Given the description of an element on the screen output the (x, y) to click on. 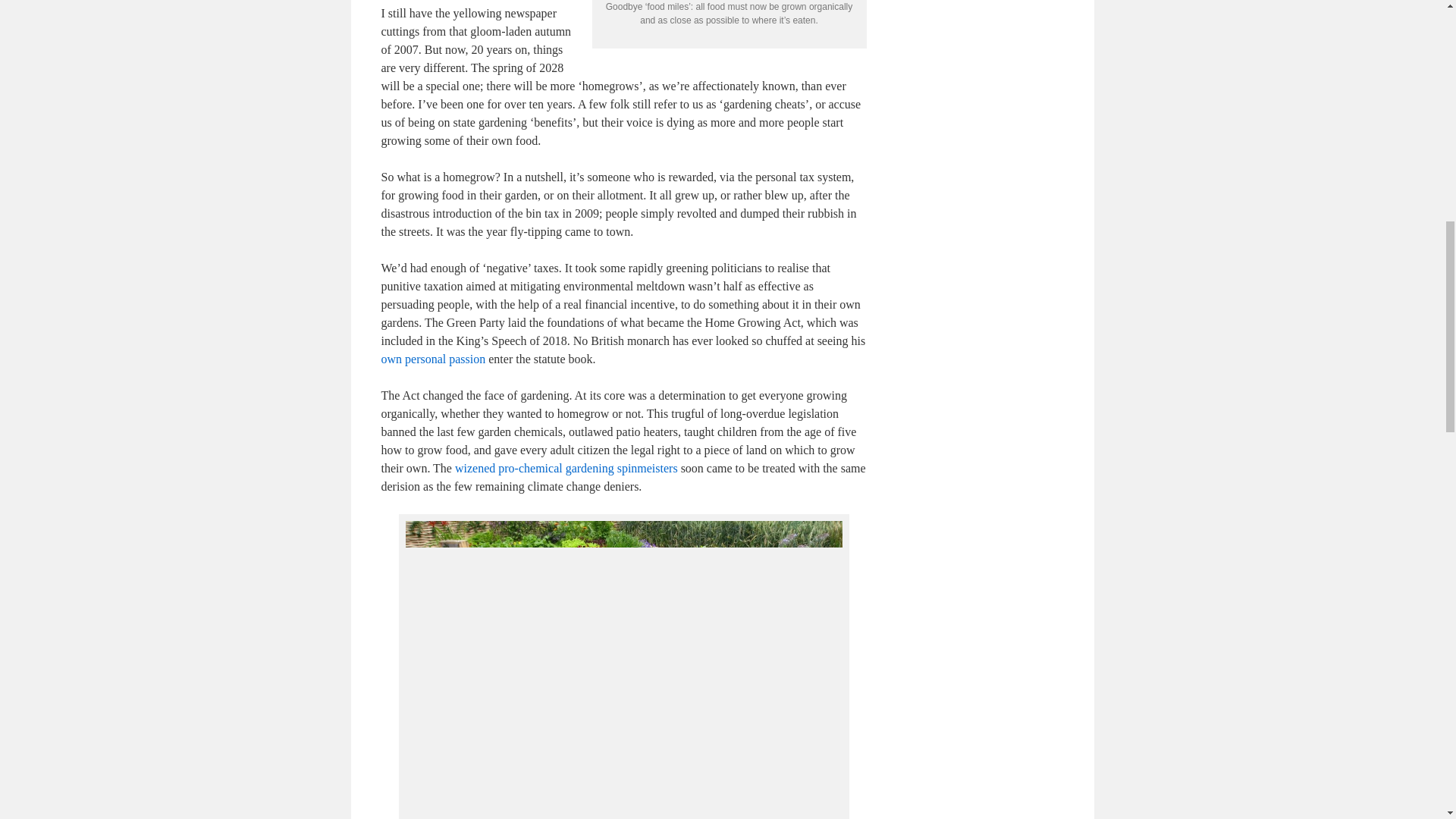
wizened pro-chemical gardening spinmeisters (566, 468)
own personal passion (432, 358)
